Given the description of an element on the screen output the (x, y) to click on. 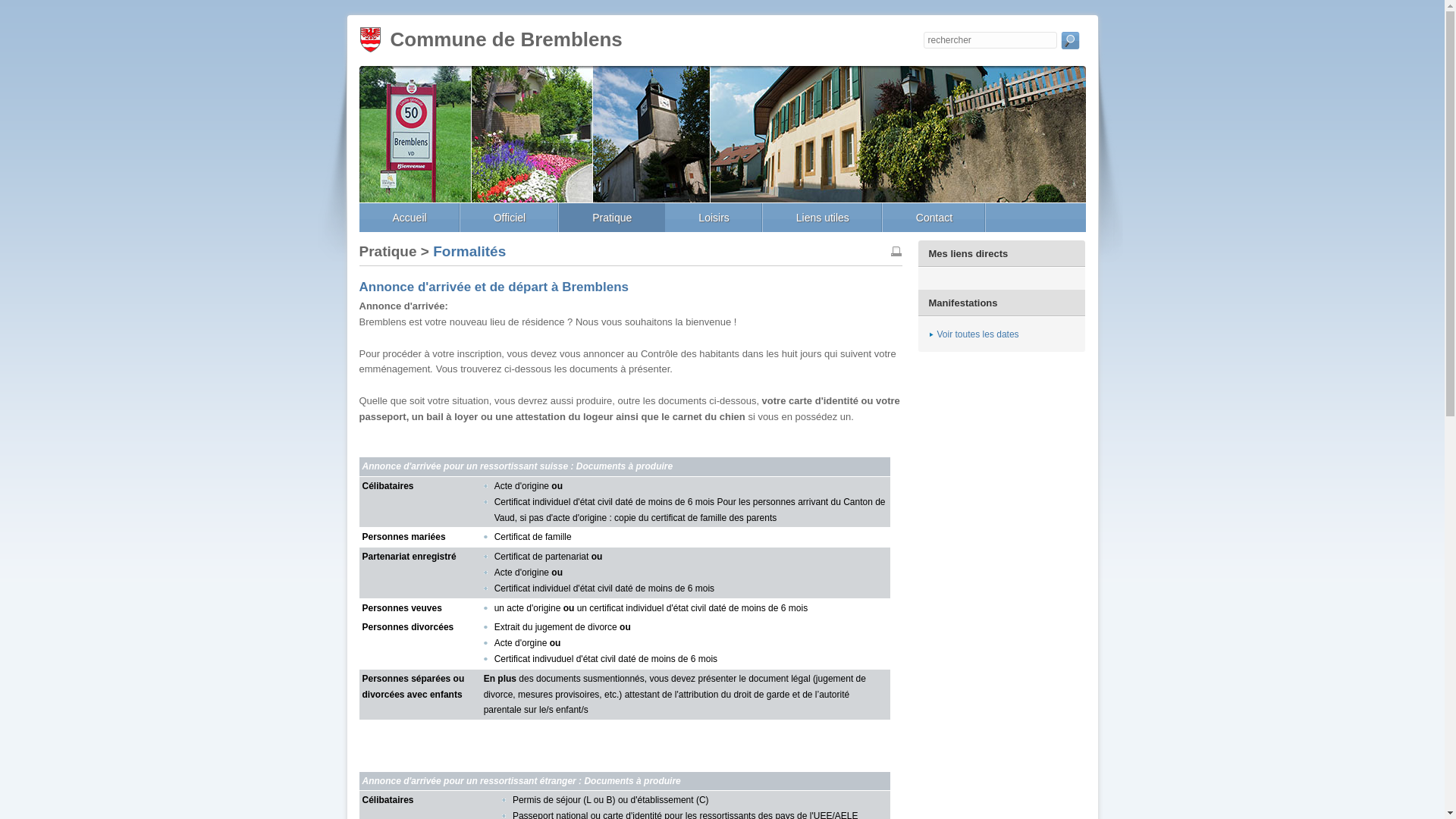
Liens utiles Element type: text (822, 217)
Loisirs Element type: text (713, 217)
  Element type: text (1069, 43)
imprimer la page Element type: hover (896, 251)
Contact Element type: text (933, 217)
rechercher Element type: hover (1069, 43)
Voir toutes les dates Element type: text (974, 334)
Accueil Element type: text (409, 217)
Pratique Element type: text (611, 217)
Officiel Element type: text (509, 217)
